Given the description of an element on the screen output the (x, y) to click on. 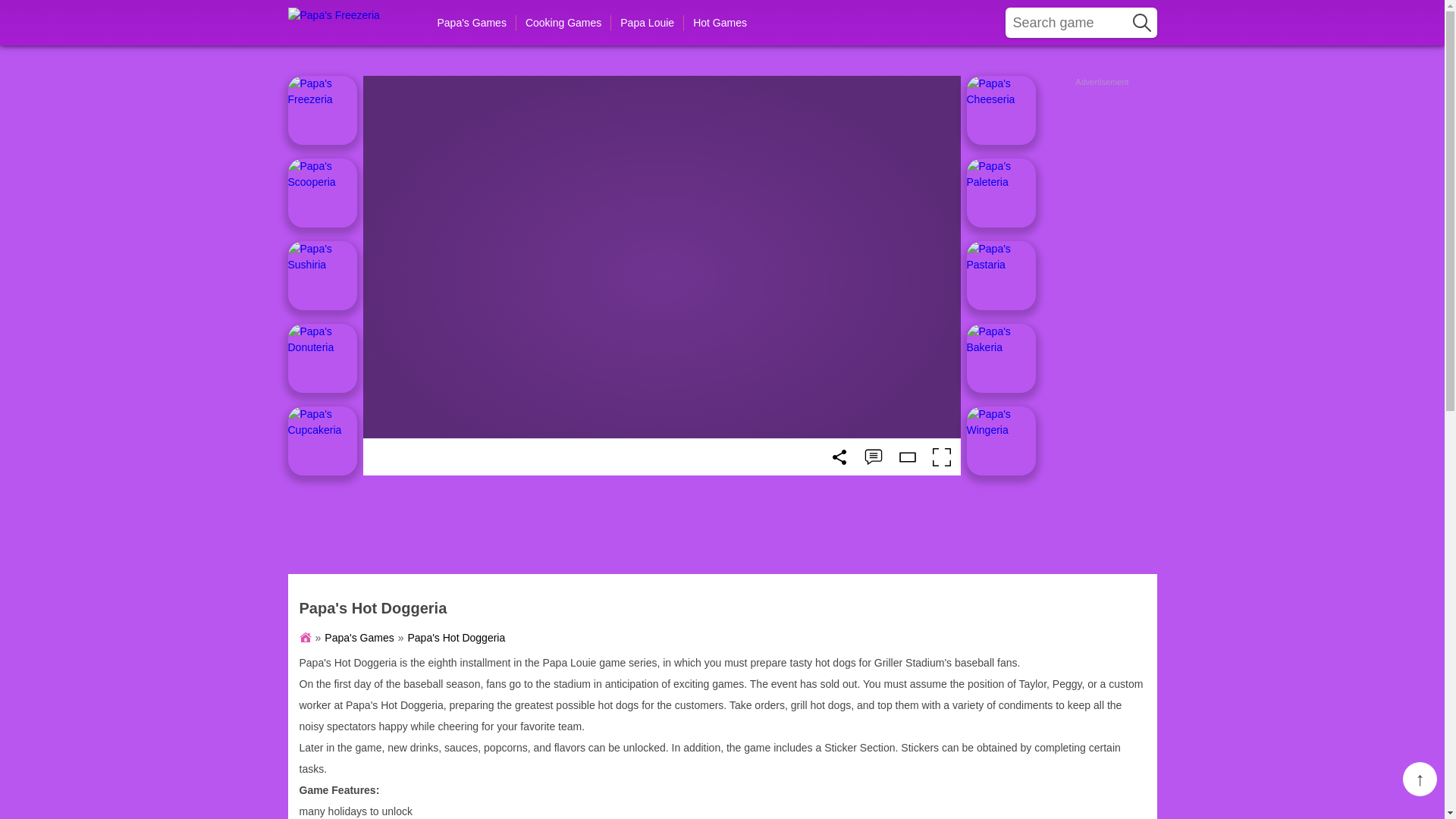
Papa's Cupcakeria (322, 440)
Papa's Cheeseria (1000, 110)
Papa'S Games (352, 636)
Papa's Pastaria (1000, 275)
Hot Games (719, 23)
Papa's Freezeria (322, 110)
Papa's Freezeria (350, 19)
Papa'S Hot Doggeria (449, 636)
Papa's Bakeria (1000, 358)
